Given the description of an element on the screen output the (x, y) to click on. 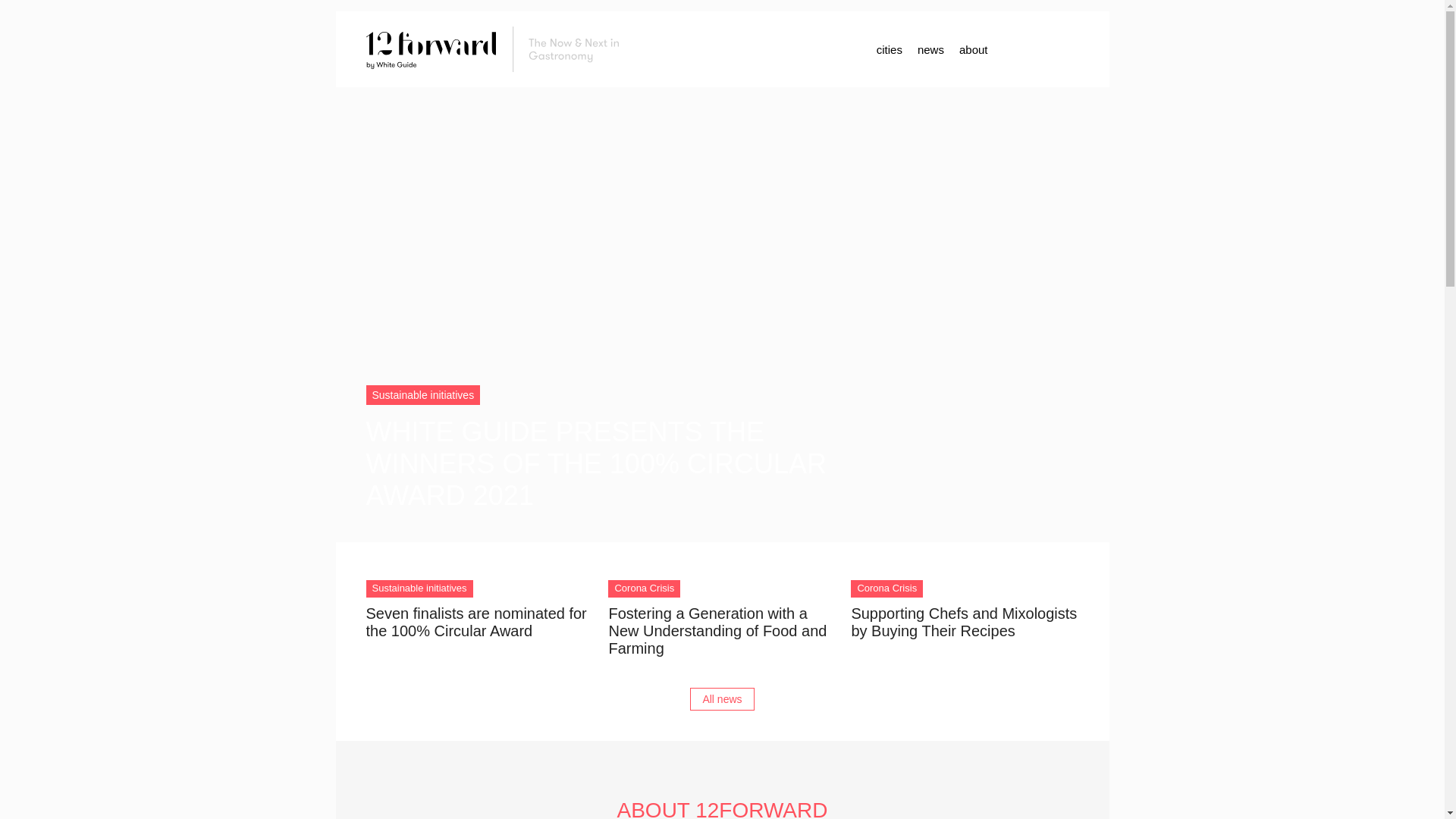
Twitter Element type: text (1063, 48)
news Element type: text (930, 48)
12forward Element type: text (497, 49)
Facebook Element type: text (1002, 48)
cities Element type: text (889, 48)
All news Element type: text (721, 698)
Instagram Element type: text (1032, 48)
about Element type: text (973, 48)
